Given the description of an element on the screen output the (x, y) to click on. 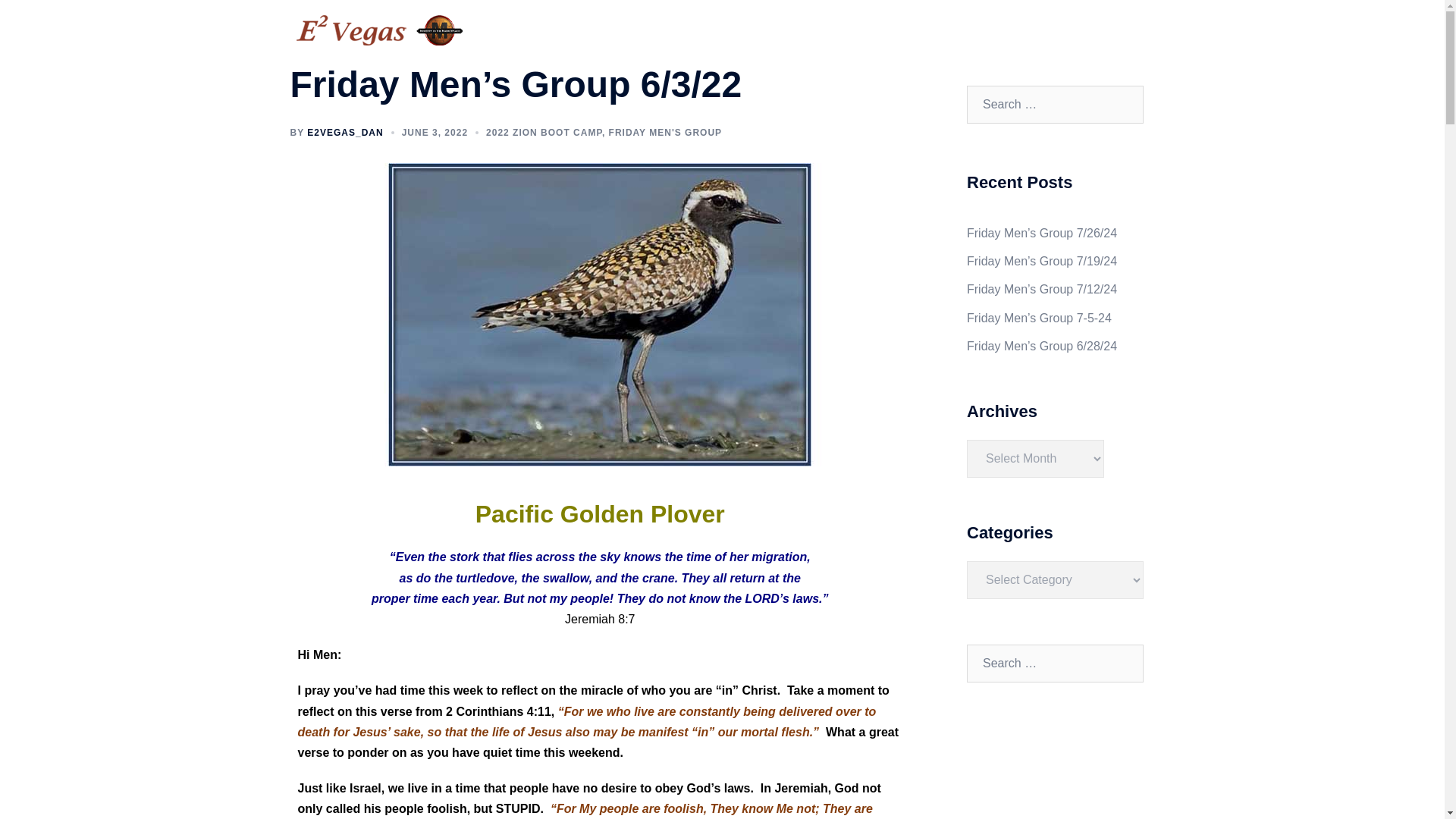
Media (868, 30)
2022 ZION BOOT CAMP (544, 132)
FRIDAY MEN'S GROUP (665, 132)
JUNE 3, 2022 (434, 132)
Home (810, 30)
Contact Us (1108, 30)
Friday Letters (1012, 30)
Events (929, 30)
Search (47, 18)
